Given the description of an element on the screen output the (x, y) to click on. 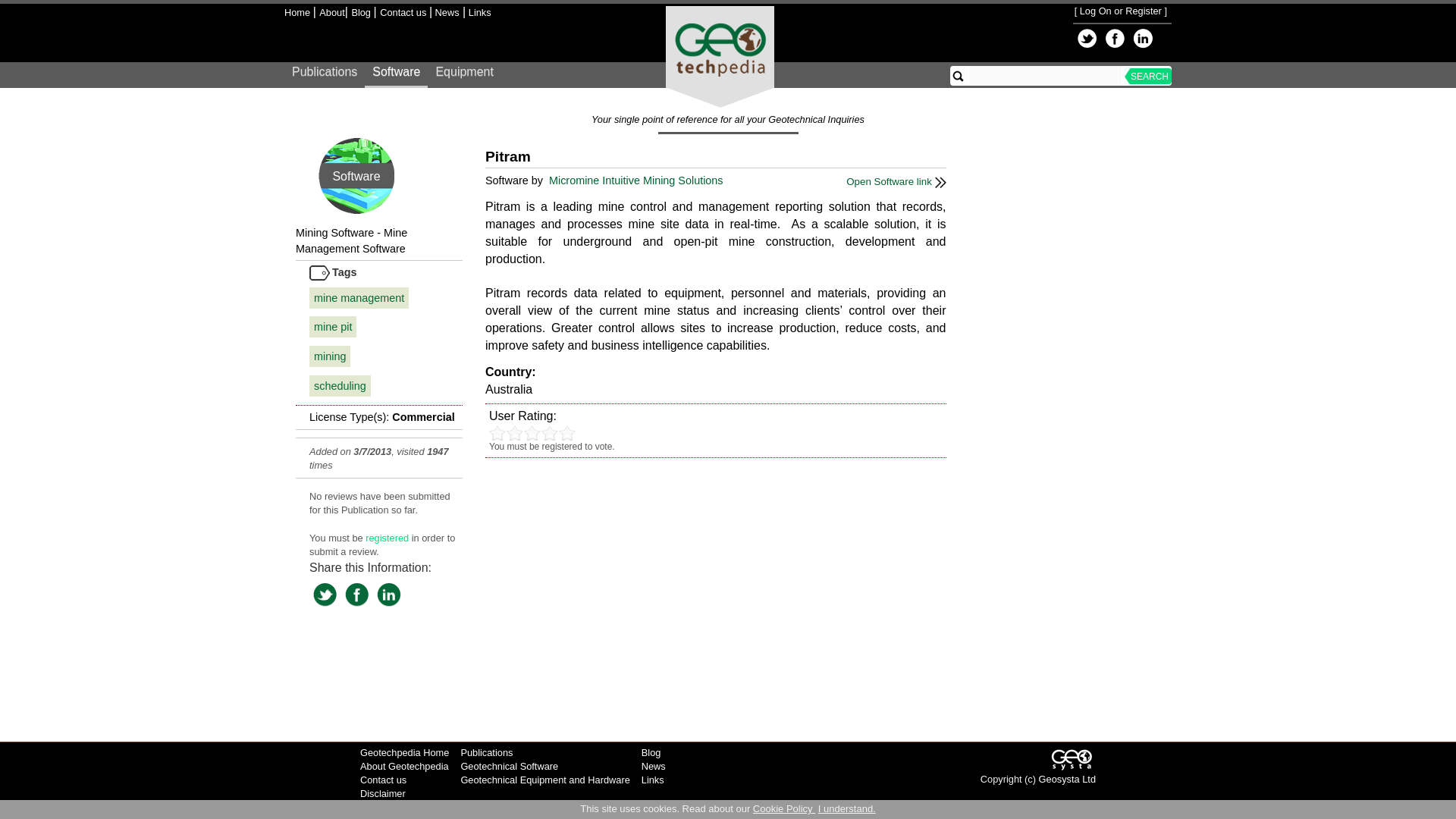
Mining Software (334, 232)
Software (396, 75)
Geosysta Ltd. (1072, 759)
Software (356, 175)
Share on Twitter (324, 594)
mining (329, 355)
Equipment (464, 75)
Mine Management Software (351, 240)
About (330, 12)
Home (298, 12)
Privacy Policy (389, 808)
Open Software link  (894, 181)
Micromine Intuitive Mining Solutions (637, 180)
Share on Facebook (1114, 38)
Geotechpedia Home (403, 752)
